Given the description of an element on the screen output the (x, y) to click on. 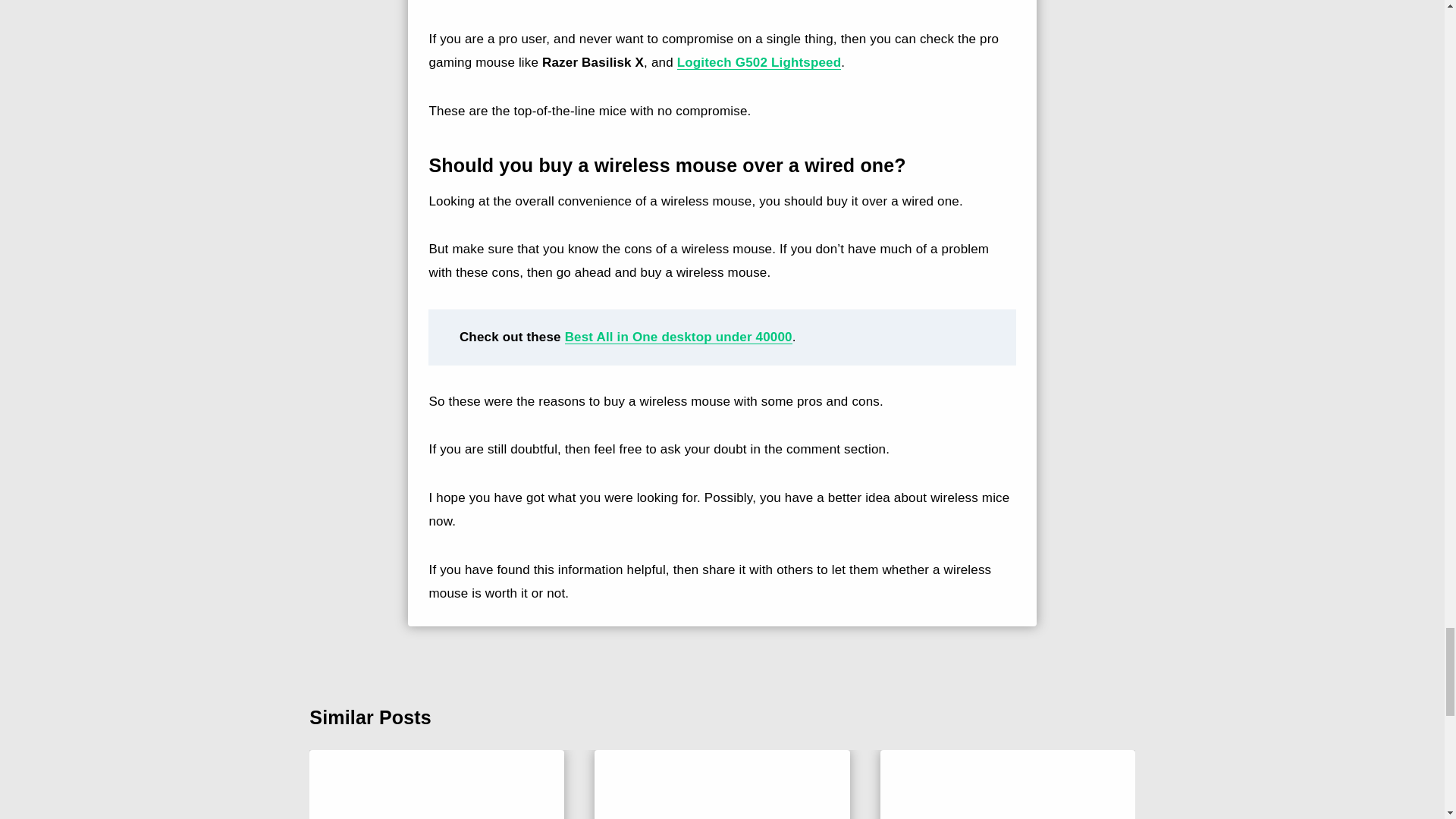
Best All in One desktop under 40000 (678, 336)
Logitech G502 Lightspeed (759, 62)
